Given the description of an element on the screen output the (x, y) to click on. 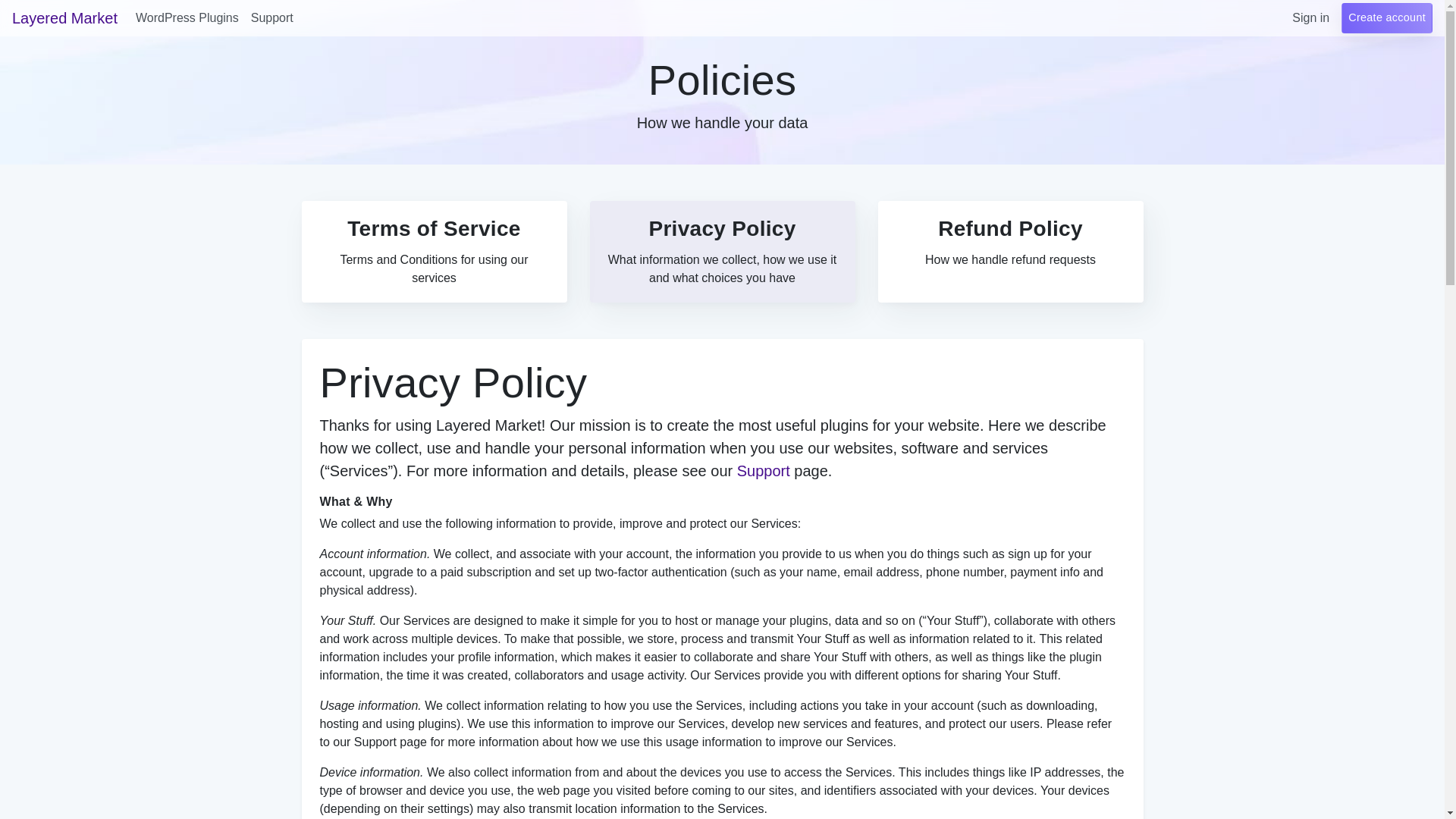
Layered Market (64, 18)
Support (763, 470)
WordPress Plugins (186, 18)
Create account (434, 251)
Support (1386, 18)
Sign in (1009, 251)
